Given the description of an element on the screen output the (x, y) to click on. 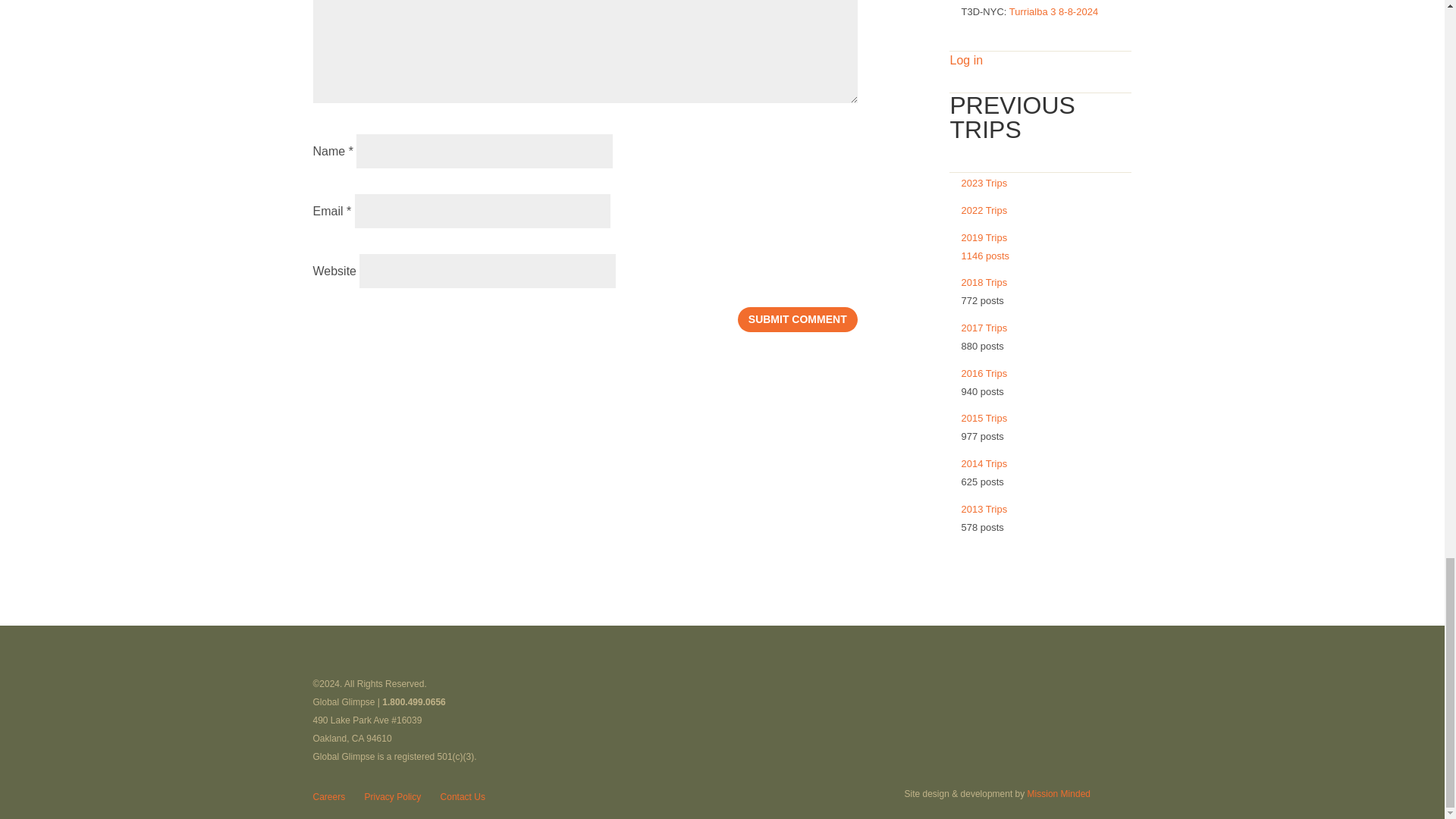
Submit Comment (797, 319)
